Given the description of an element on the screen output the (x, y) to click on. 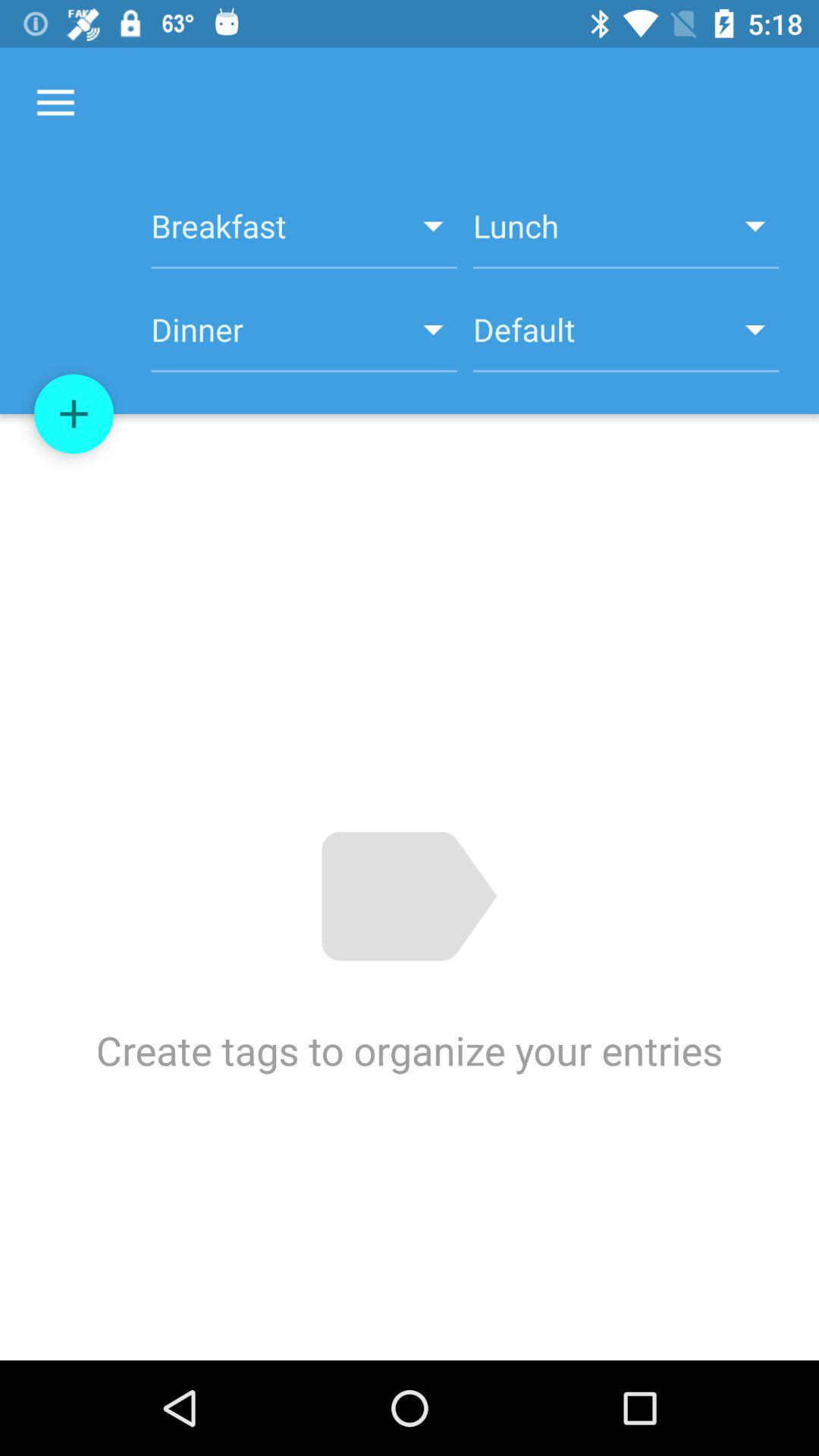
add meal (73, 413)
